Given the description of an element on the screen output the (x, y) to click on. 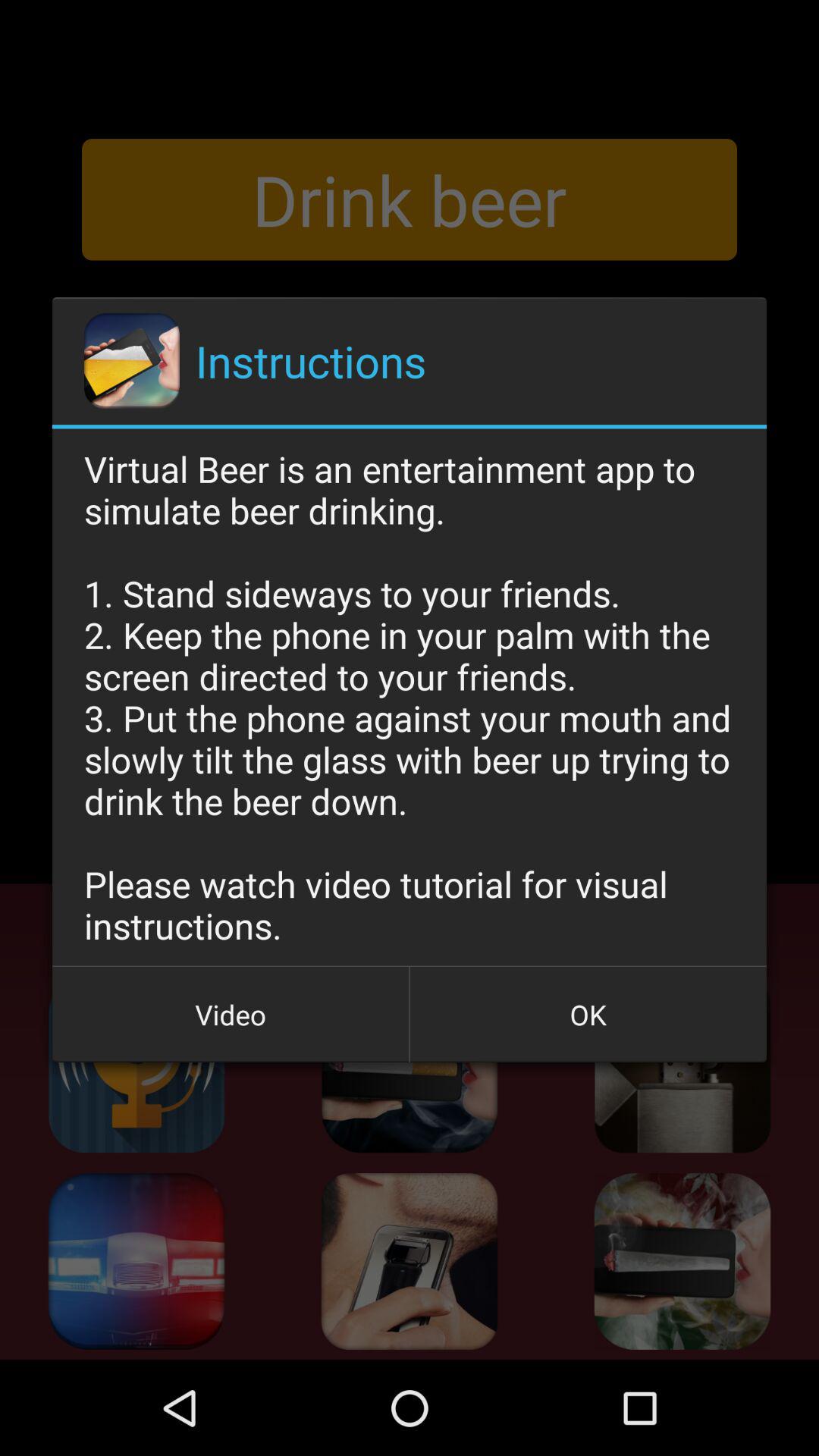
choose video icon (230, 1014)
